Given the description of an element on the screen output the (x, y) to click on. 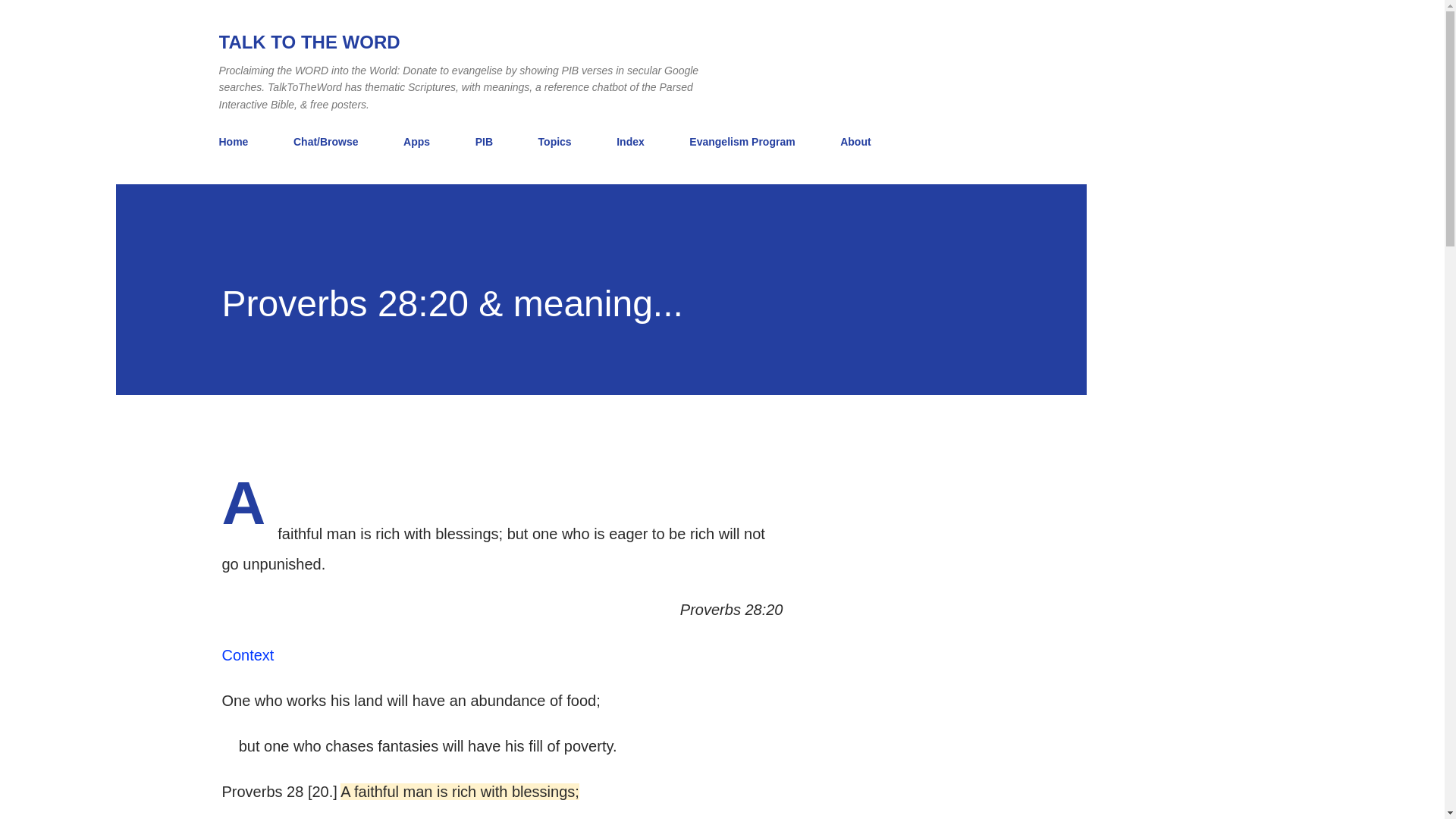
Topics (554, 141)
Home (237, 141)
Apps (416, 141)
Evangelism Program (741, 141)
Context (247, 655)
PIB (483, 141)
About (855, 141)
Index (630, 141)
TALK TO THE WORD (308, 41)
